Given the description of an element on the screen output the (x, y) to click on. 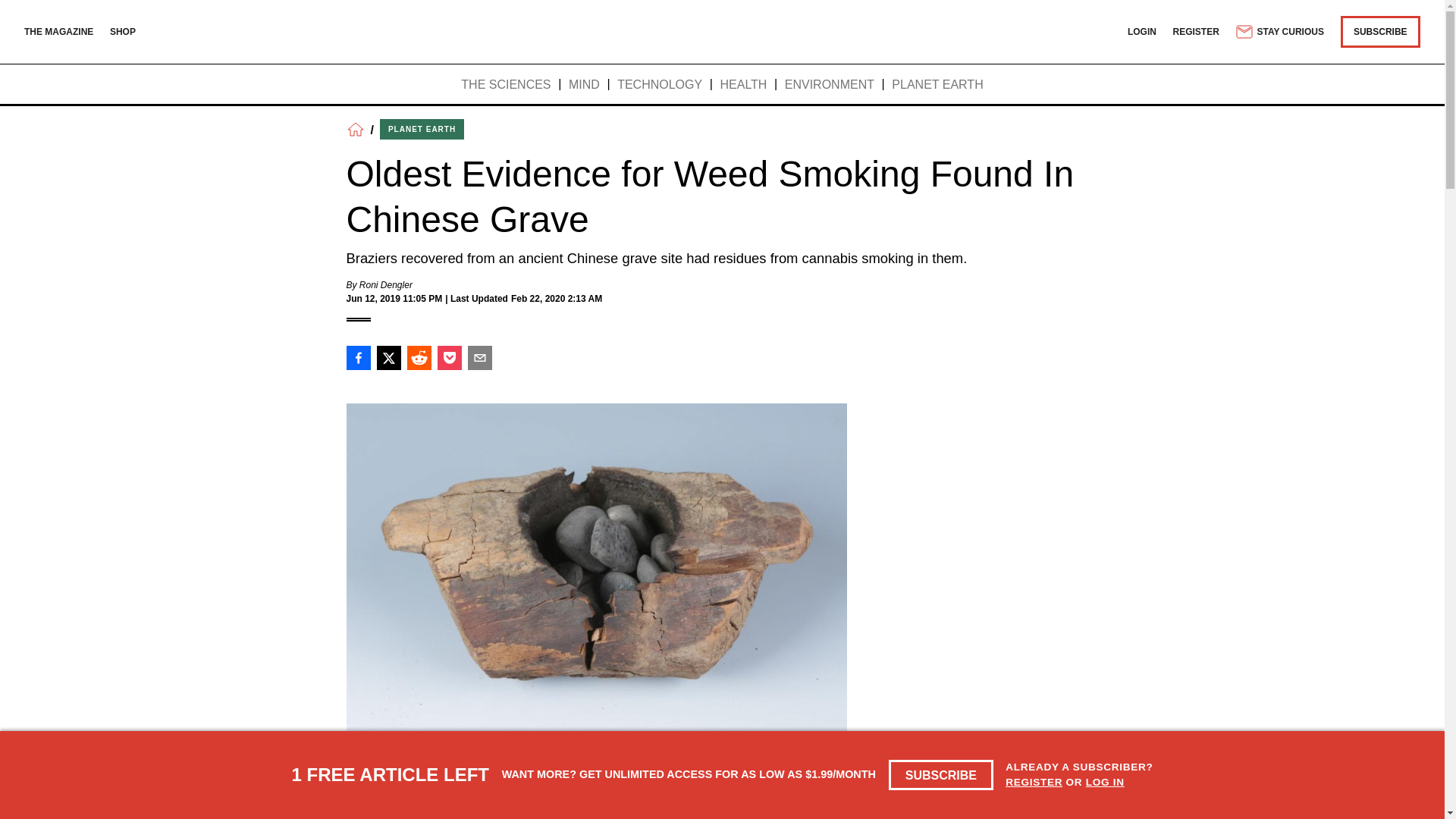
THE MAGAZINE (58, 31)
REGISTER (1034, 781)
THE SCIENCES (505, 84)
SUBSCRIBE (1380, 31)
SHOP (122, 31)
PLANET EARTH (422, 128)
LOGIN (1141, 31)
SIGN UP (1063, 810)
Roni Dengler (385, 285)
ENVIRONMENT (829, 84)
